Given the description of an element on the screen output the (x, y) to click on. 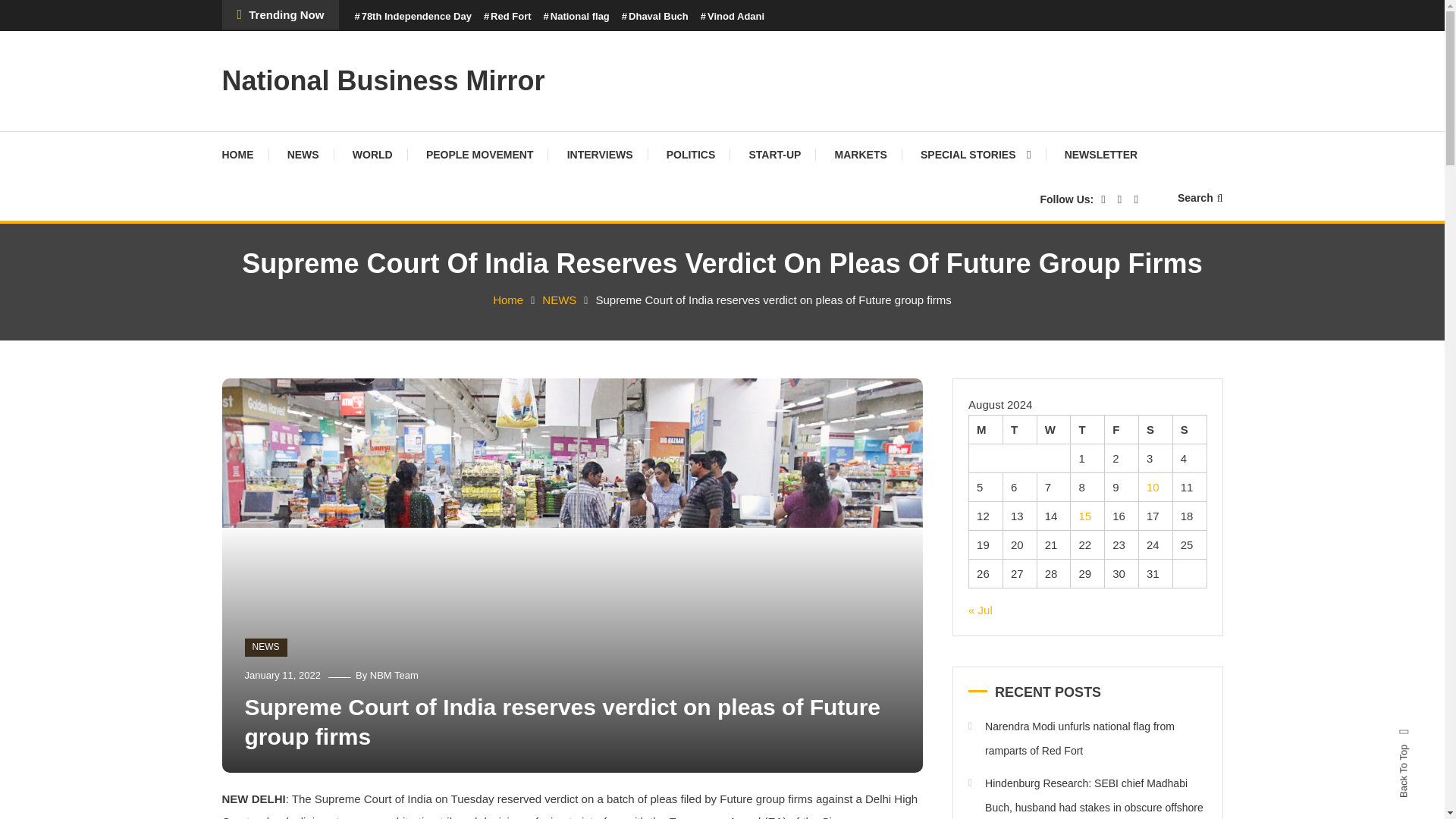
Tuesday (1019, 429)
NEWSLETTER (1101, 154)
NEWS (265, 647)
MARKETS (860, 154)
78th Independence Day (411, 16)
Thursday (1087, 429)
National flag (576, 16)
National Business Mirror (382, 80)
Skip To Content (40, 10)
NEWS (303, 154)
